Given the description of an element on the screen output the (x, y) to click on. 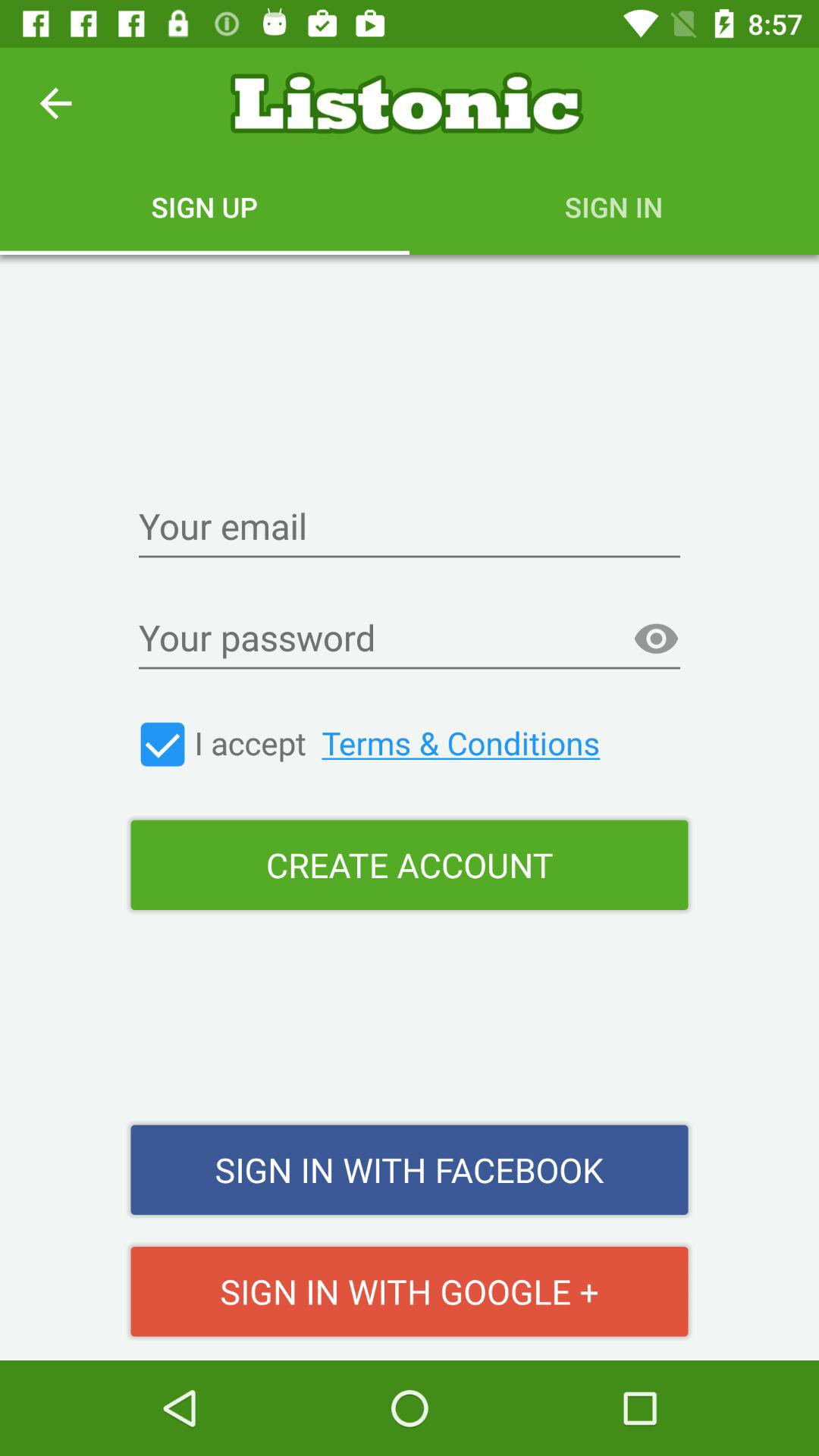
tap item below the sign up item (409, 528)
